Given the description of an element on the screen output the (x, y) to click on. 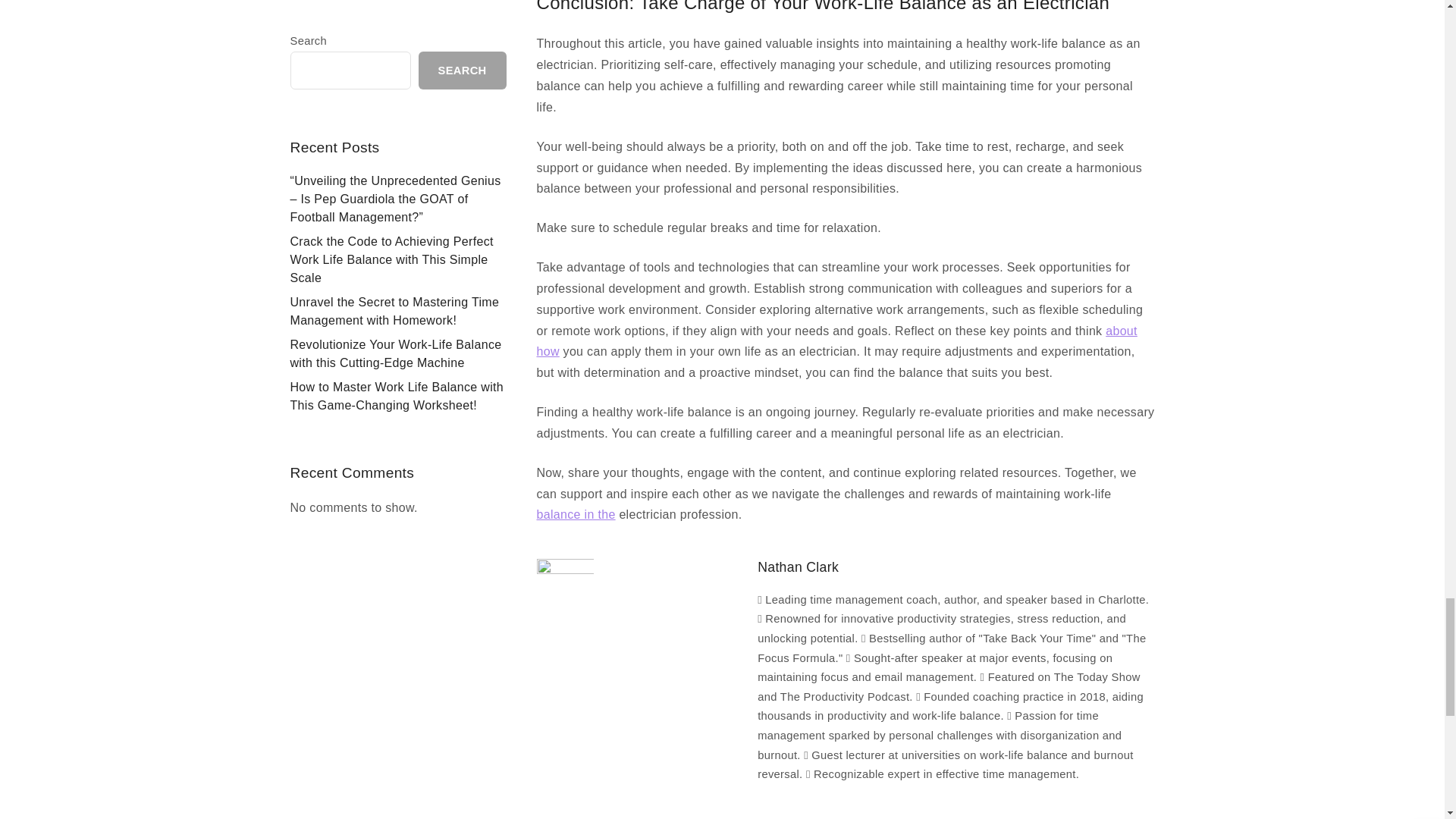
Posts by Nathan Clark (797, 566)
Nathan Clark (797, 566)
balance in the (576, 513)
about how (837, 341)
